Given the description of an element on the screen output the (x, y) to click on. 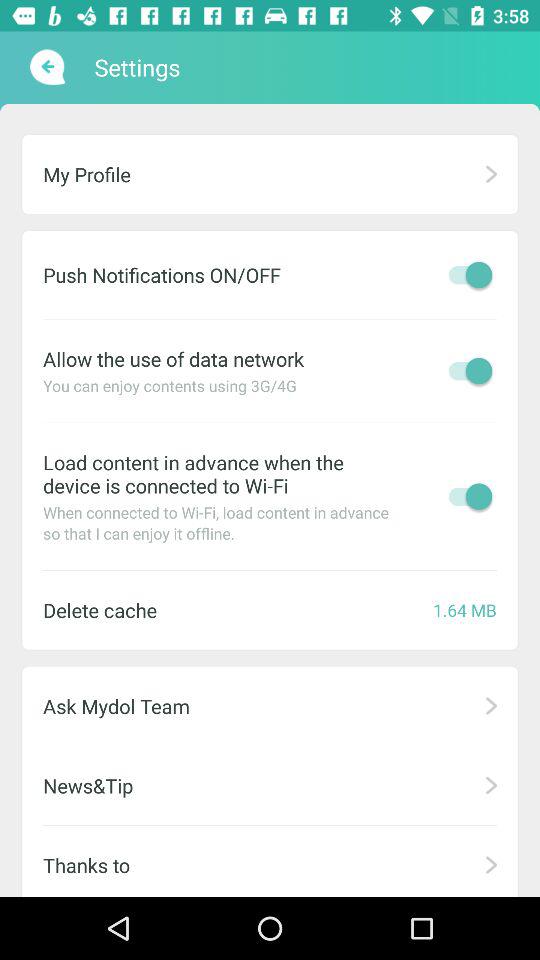
toggle notification option (465, 274)
